Given the description of an element on the screen output the (x, y) to click on. 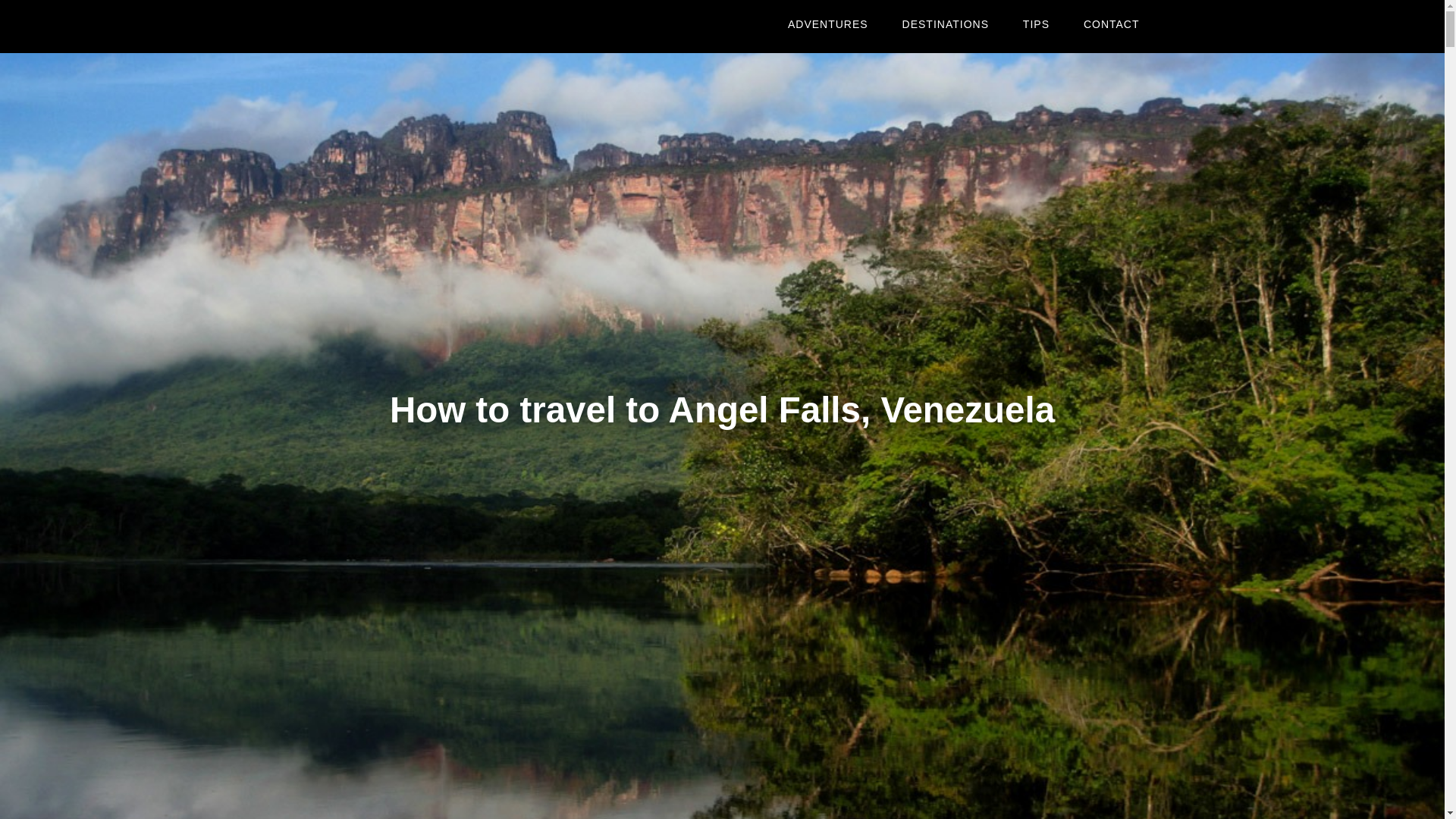
ADVENTURES (828, 24)
TRAVELSAURO (425, 26)
DESTINATIONS (945, 24)
